Given the description of an element on the screen output the (x, y) to click on. 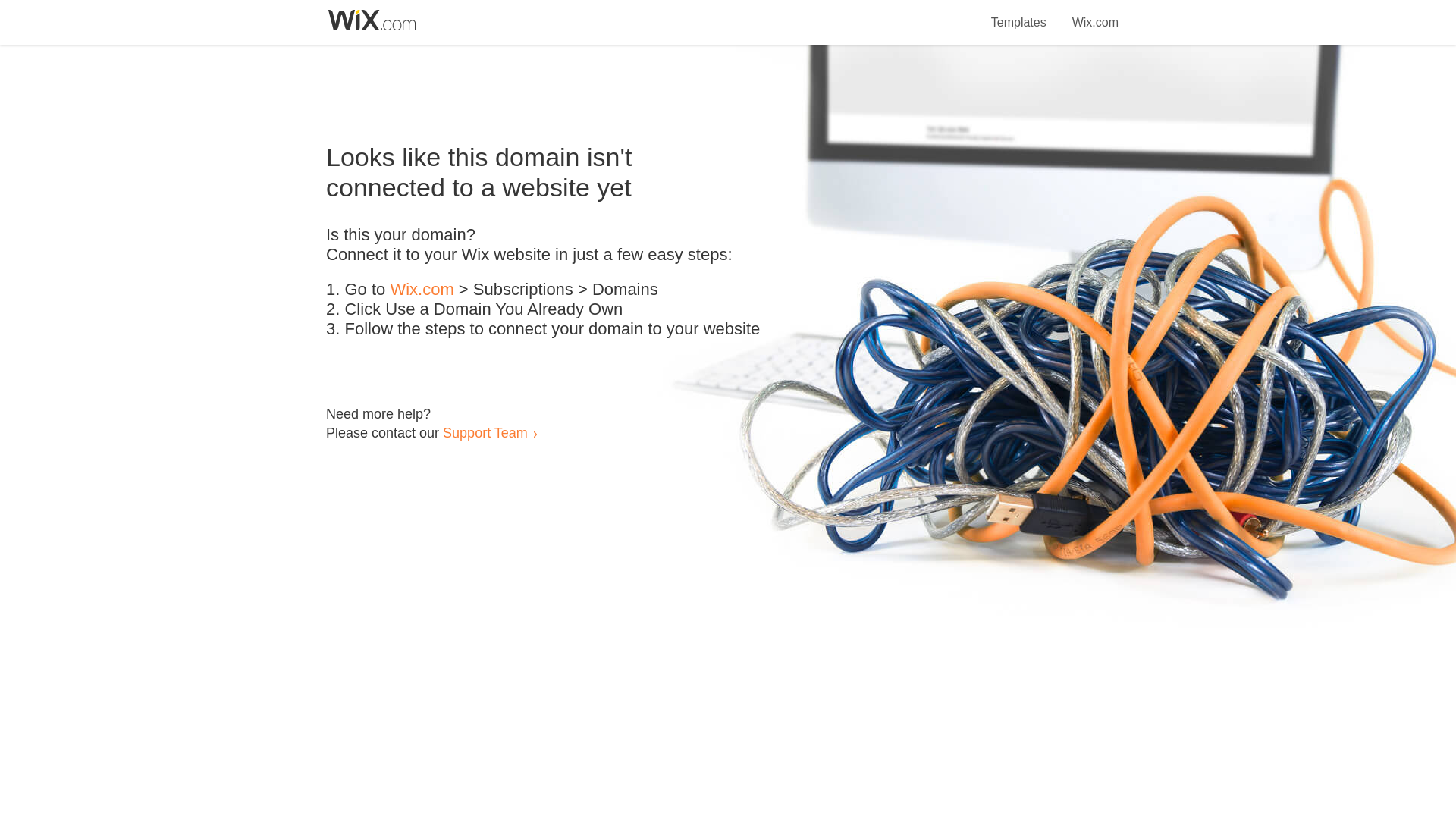
Templates (1018, 14)
Support Team (484, 432)
Wix.com (1095, 14)
Wix.com (421, 289)
